Given the description of an element on the screen output the (x, y) to click on. 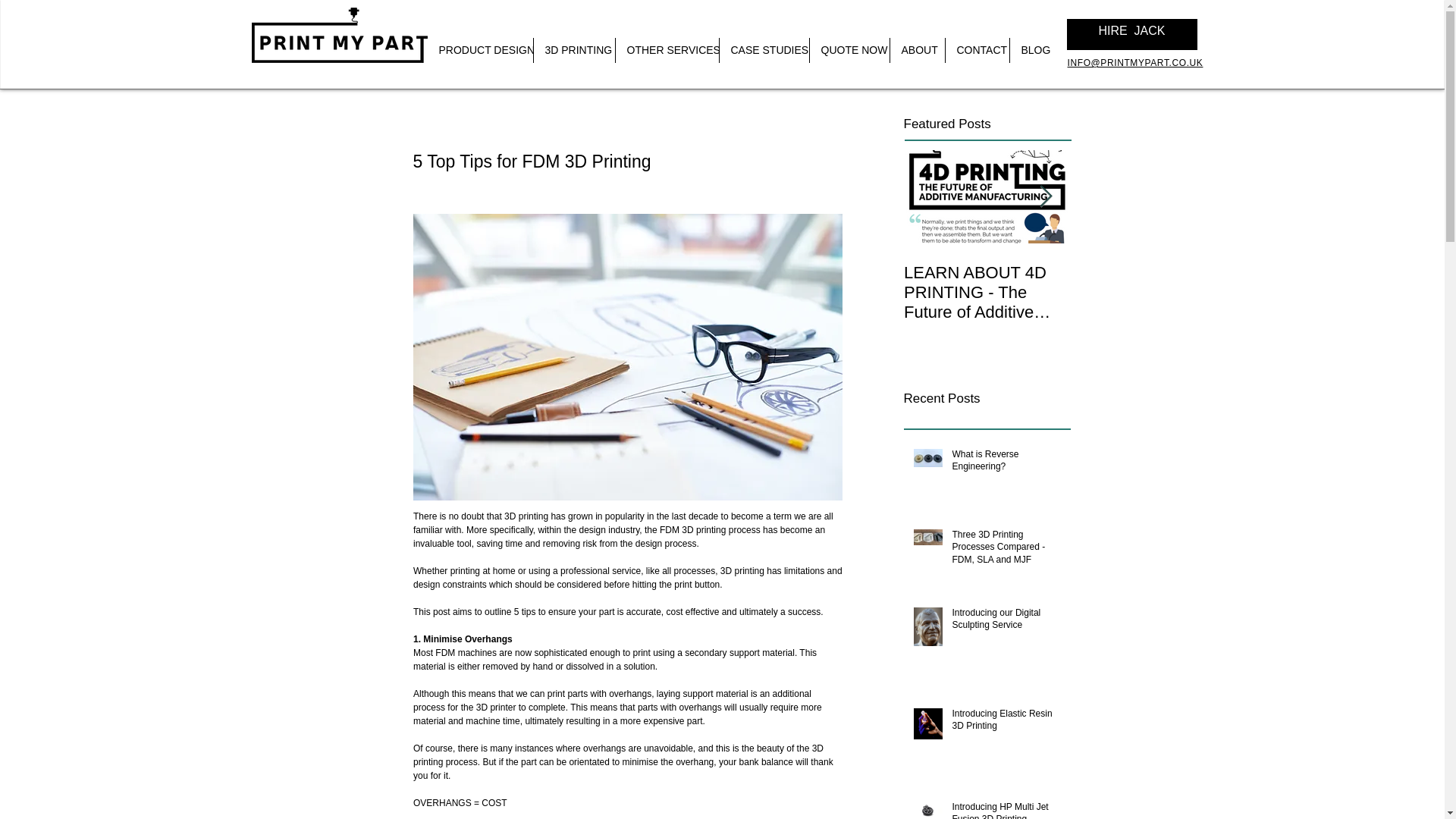
Three 3D Printing Processes Compared - FDM, SLA and MJF (1006, 550)
Introducing Elastic Resin 3D Printing (1006, 723)
ABOUT (916, 50)
OTHER SERVICES (667, 50)
CONTACT (976, 50)
BLOG (1034, 50)
What is Reverse Engineering? (1006, 463)
Competition Time! (1153, 272)
QUOTE NOW (849, 50)
CASE STUDIES (763, 50)
